Given the description of an element on the screen output the (x, y) to click on. 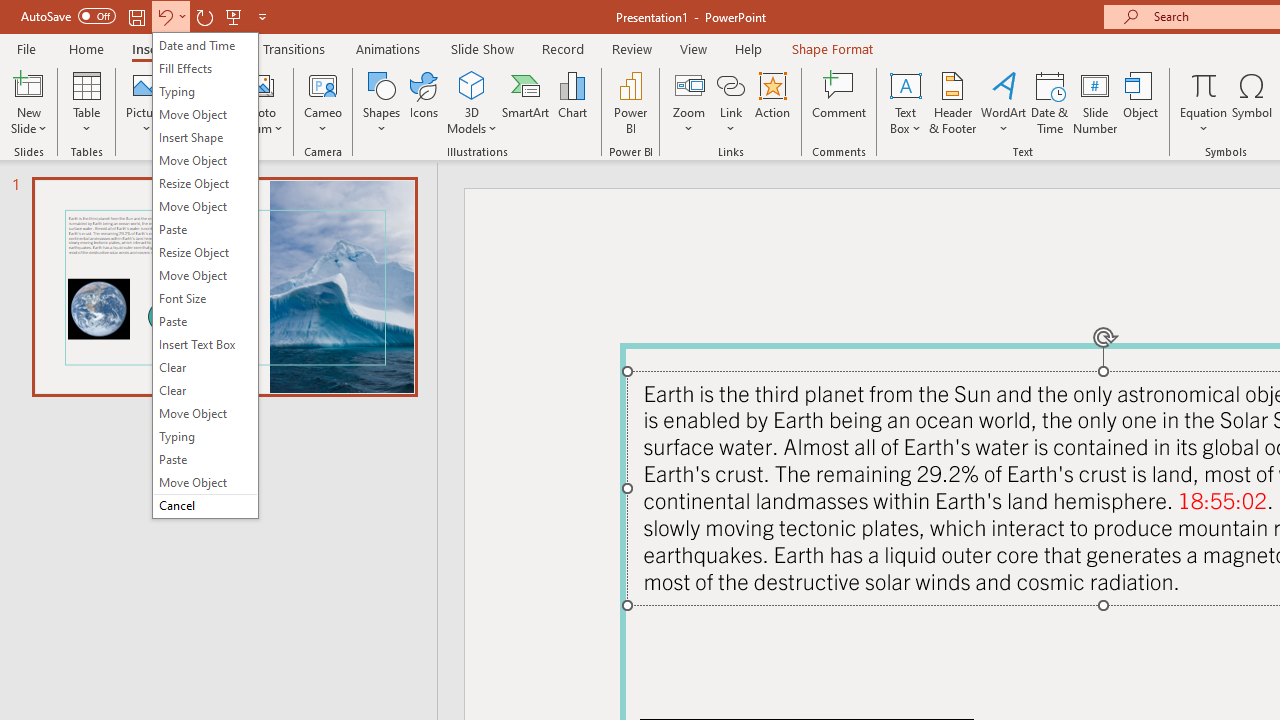
Redo (204, 15)
Chart... (572, 102)
Action (772, 102)
Animations (388, 48)
Symbol... (1252, 102)
Slide Number (1095, 102)
New Slide (28, 102)
Comment (839, 102)
AutoSave (68, 16)
Table (86, 102)
